Given the description of an element on the screen output the (x, y) to click on. 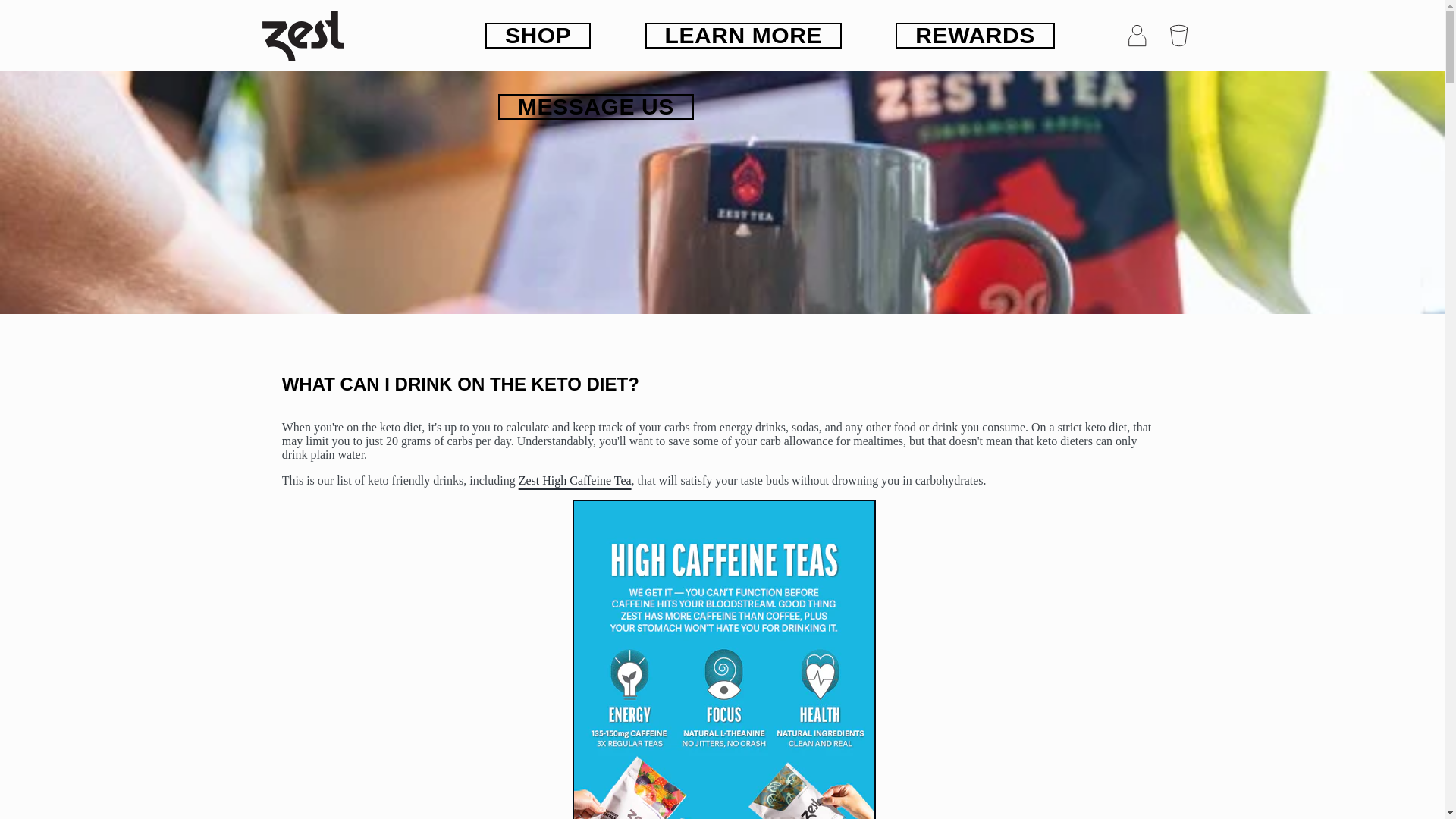
Zest High Caffeine Tea (574, 480)
